Given the description of an element on the screen output the (x, y) to click on. 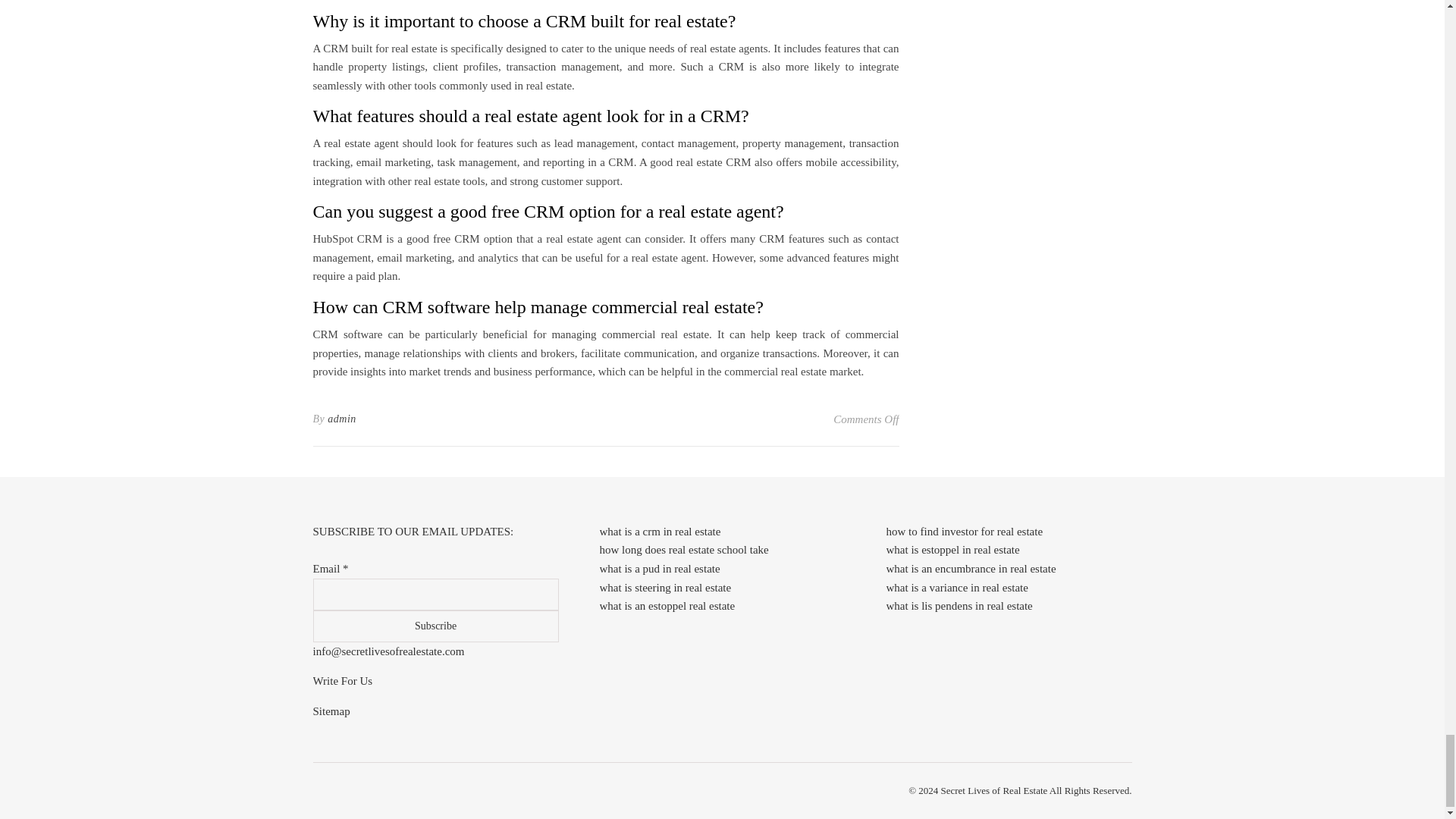
Posts by admin (341, 418)
what is steering in real estate (664, 587)
what is lis pendens in real estate (958, 605)
Write For Us (342, 680)
Subscribe (435, 626)
Sitemap (331, 711)
what is a pud in real estate (658, 568)
admin (341, 418)
what is an encumbrance in real estate (970, 568)
what is a crm in real estate (659, 531)
Subscribe (435, 626)
what is a variance in real estate (956, 587)
how to find investor for real estate (963, 531)
what is estoppel in real estate (952, 549)
what is an estoppel real estate (666, 605)
